Given the description of an element on the screen output the (x, y) to click on. 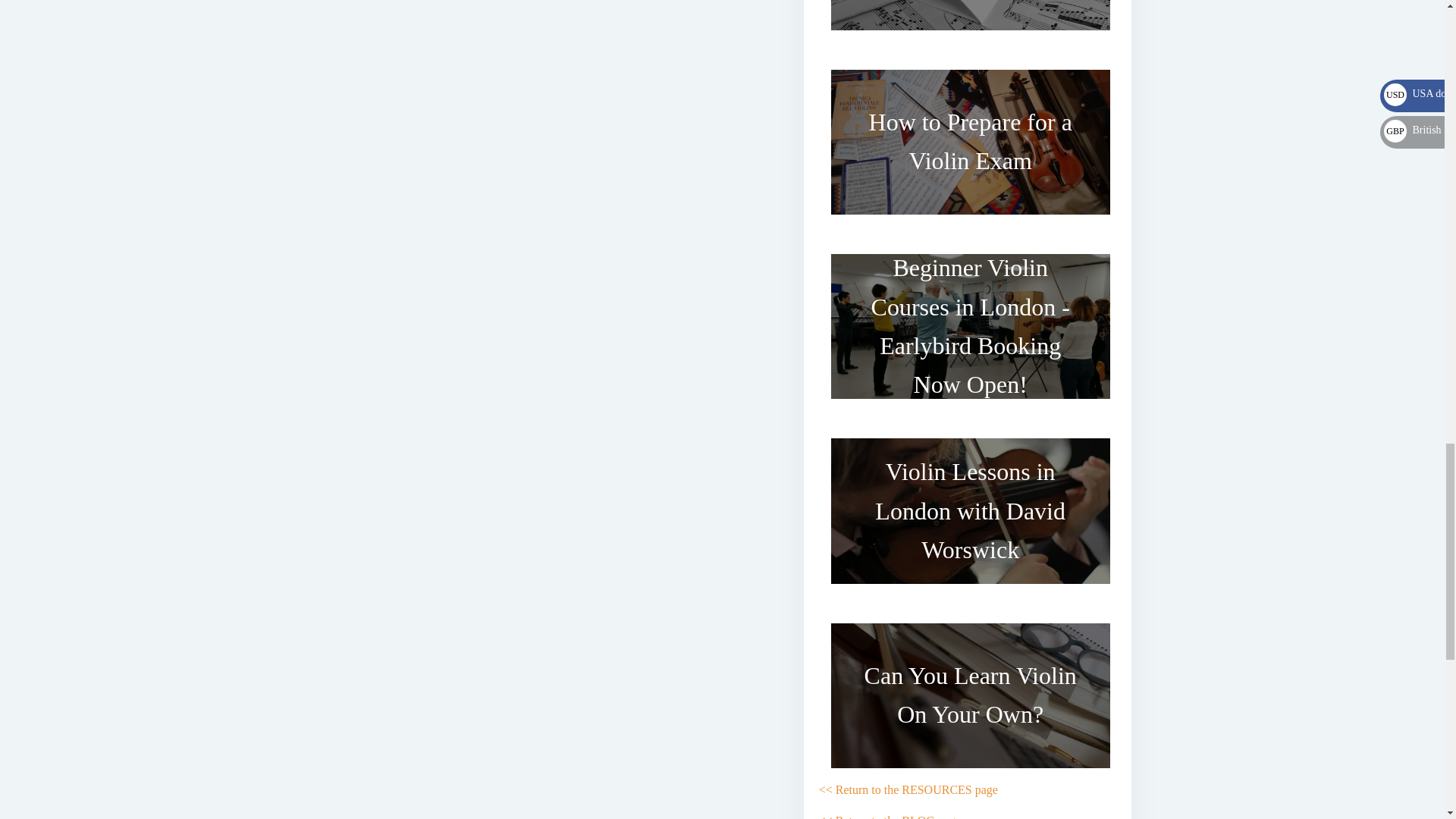
Can You Learn Violin On Your Own? (970, 695)
Why is Music Theory Important? (970, 20)
How to Prepare for a Violin Exam (970, 141)
Violin Lessons in London with David Worswick (970, 510)
